Given the description of an element on the screen output the (x, y) to click on. 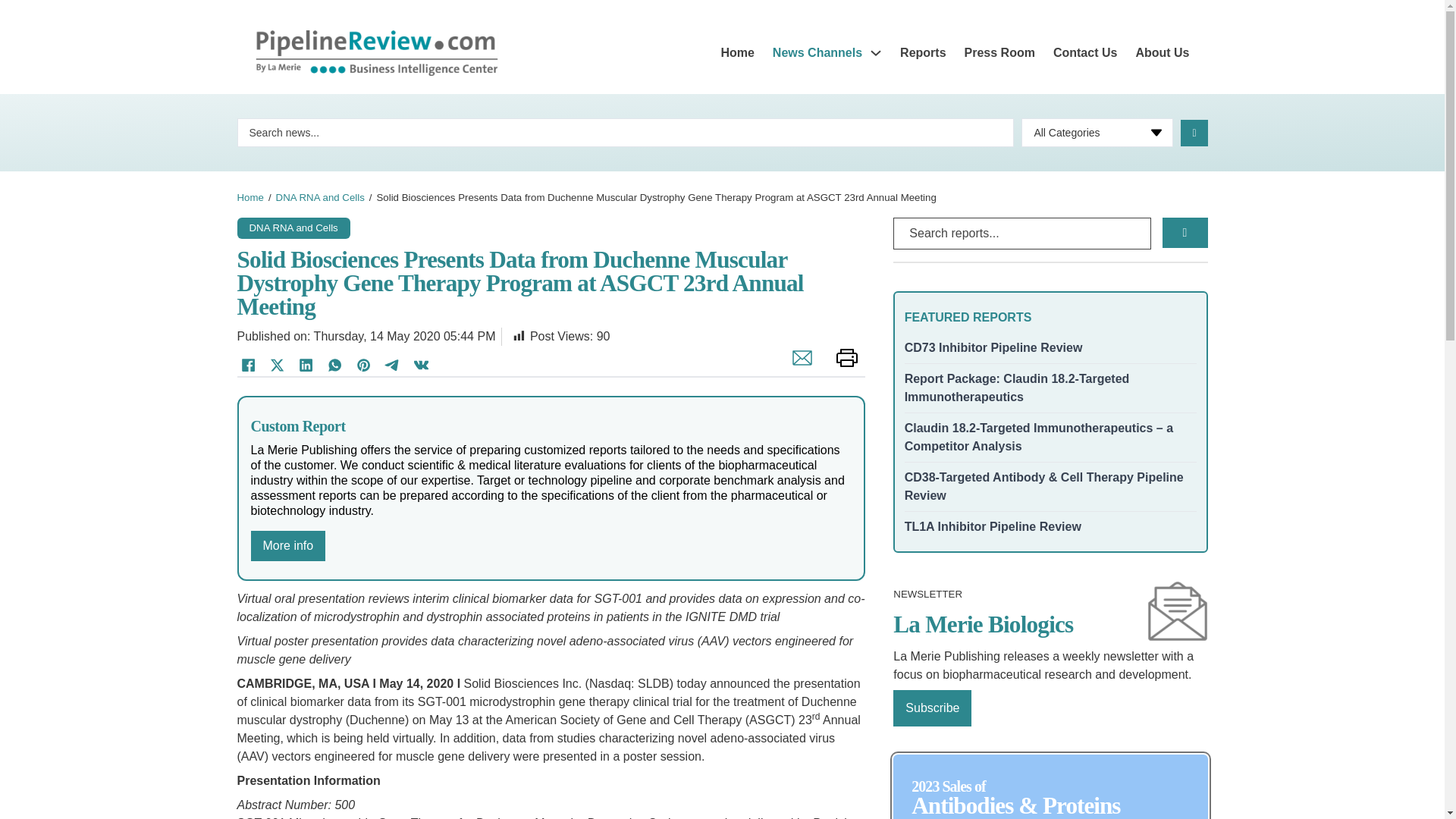
Contact Us (1084, 53)
Share by Email (798, 365)
Reports (921, 53)
About Us (1162, 53)
Home (737, 53)
Press Room (999, 53)
News Channels (817, 53)
DNA RNA and Cells (292, 226)
All Categories (1097, 132)
Home (249, 197)
Share by Email (798, 365)
DNA RNA and Cells (320, 197)
